Given the description of an element on the screen output the (x, y) to click on. 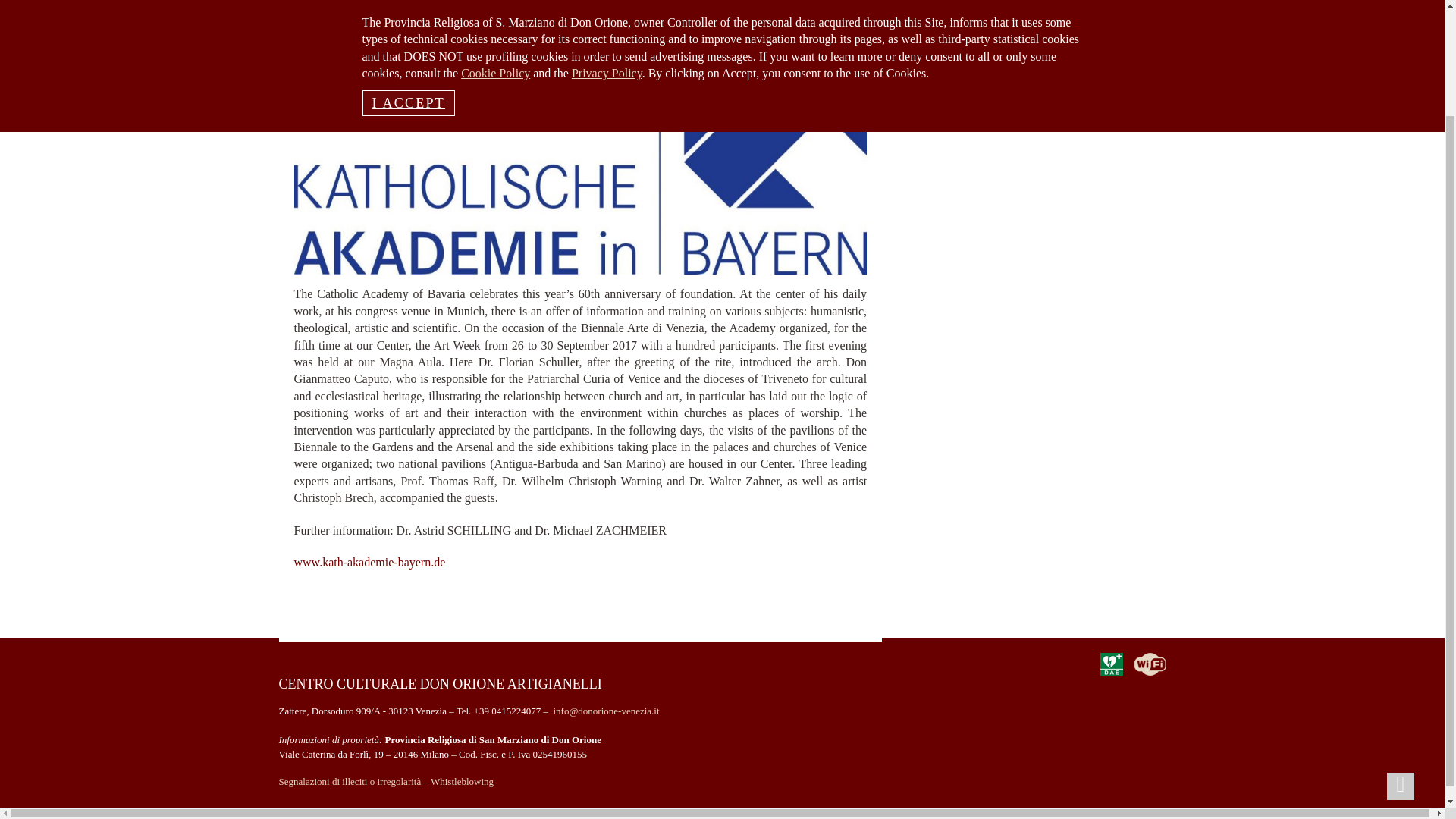
Home (427, 1)
Don Luigi Orione (560, 1)
Center (639, 1)
RESERVATION (353, 1)
History (479, 1)
